Given the description of an element on the screen output the (x, y) to click on. 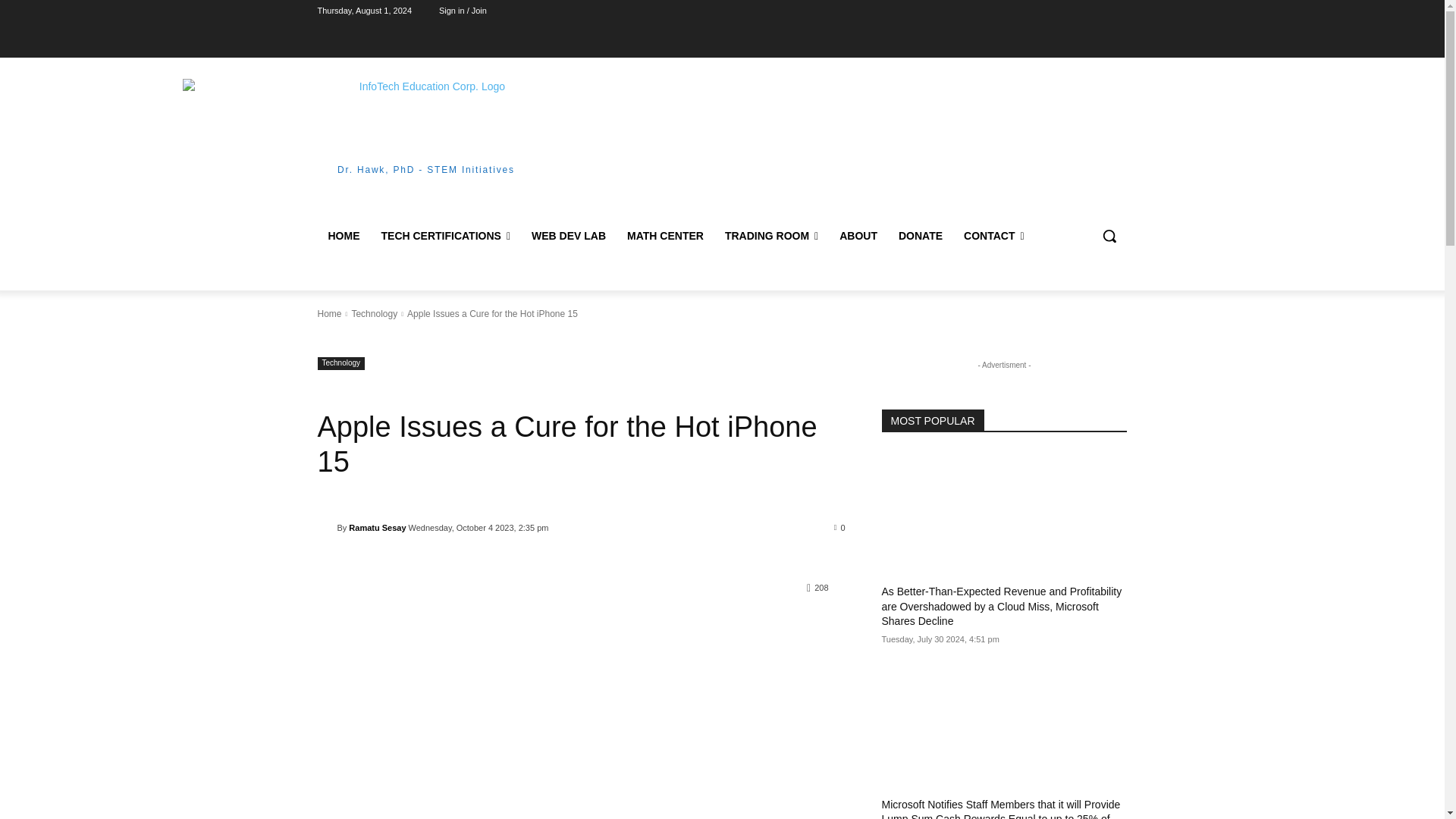
TECH CERTIFICATIONS (445, 235)
InfoTech Education Corp. Logo (425, 126)
Dr. Hawk, PhD - STEM Initiatives (425, 126)
InfoTech Education Corp. Logo (425, 121)
HOME (343, 235)
